Given the description of an element on the screen output the (x, y) to click on. 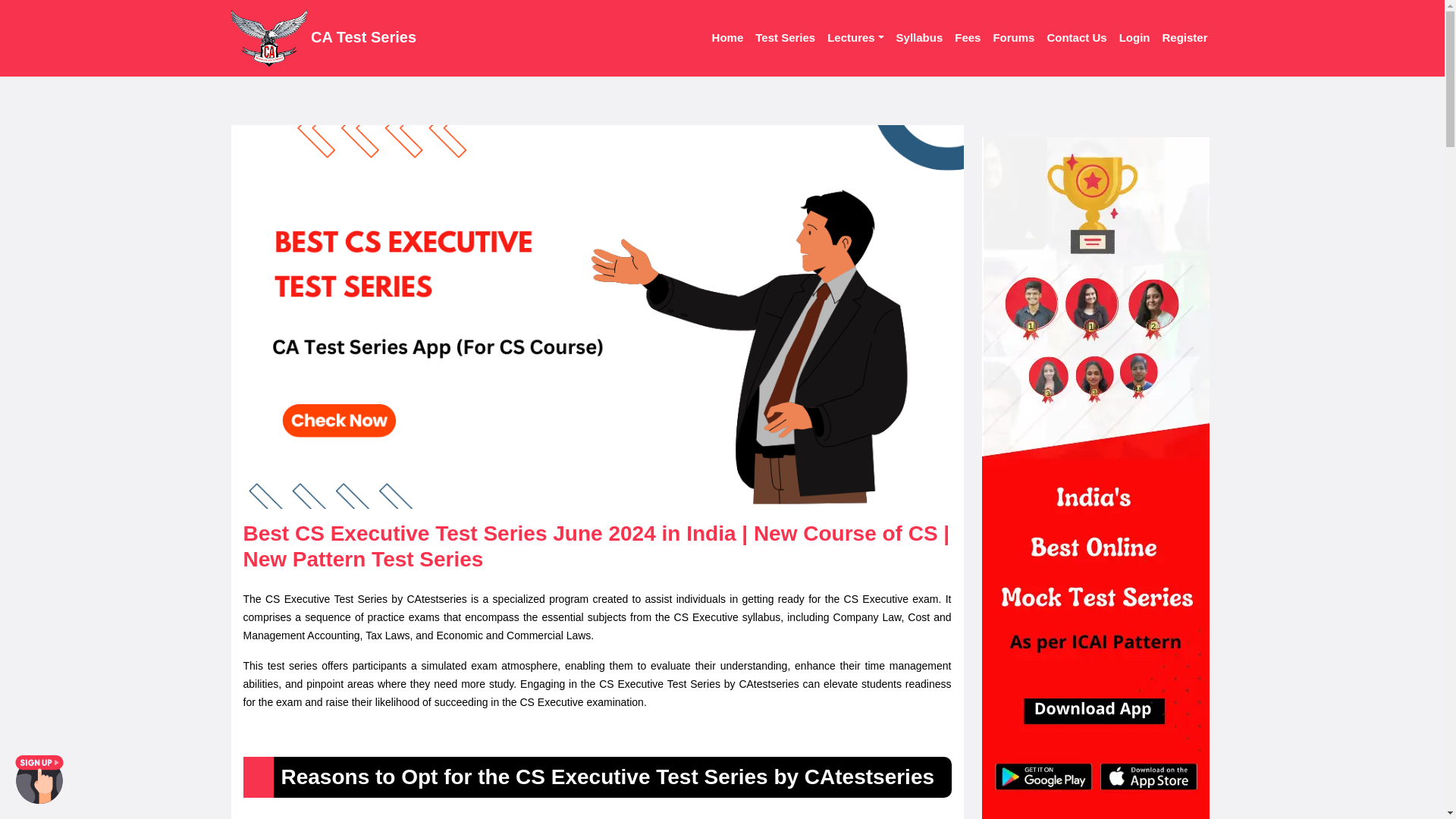
Forums (1014, 38)
CA Test Series (323, 37)
Fees (968, 38)
Register (1184, 38)
Login (1134, 38)
Syllabus (919, 38)
Contact Us (1076, 38)
Lectures (855, 38)
Test Series (785, 38)
Home (727, 38)
